Given the description of an element on the screen output the (x, y) to click on. 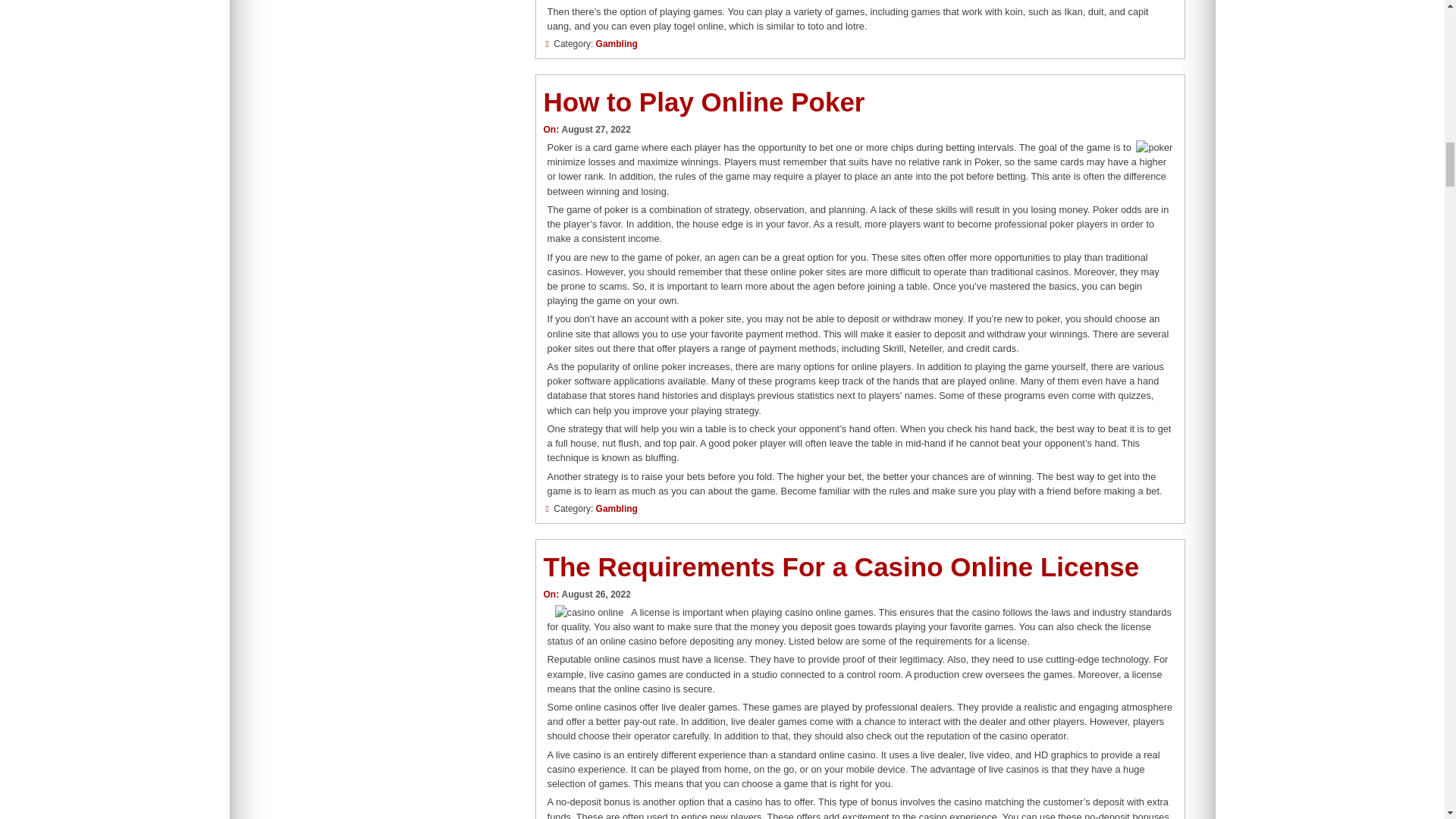
Gambling (616, 43)
How to Play Online Poker (703, 101)
August 27, 2022 (595, 129)
The Requirements For a Casino Online License (840, 566)
Gambling (616, 508)
August 26, 2022 (595, 593)
